Given the description of an element on the screen output the (x, y) to click on. 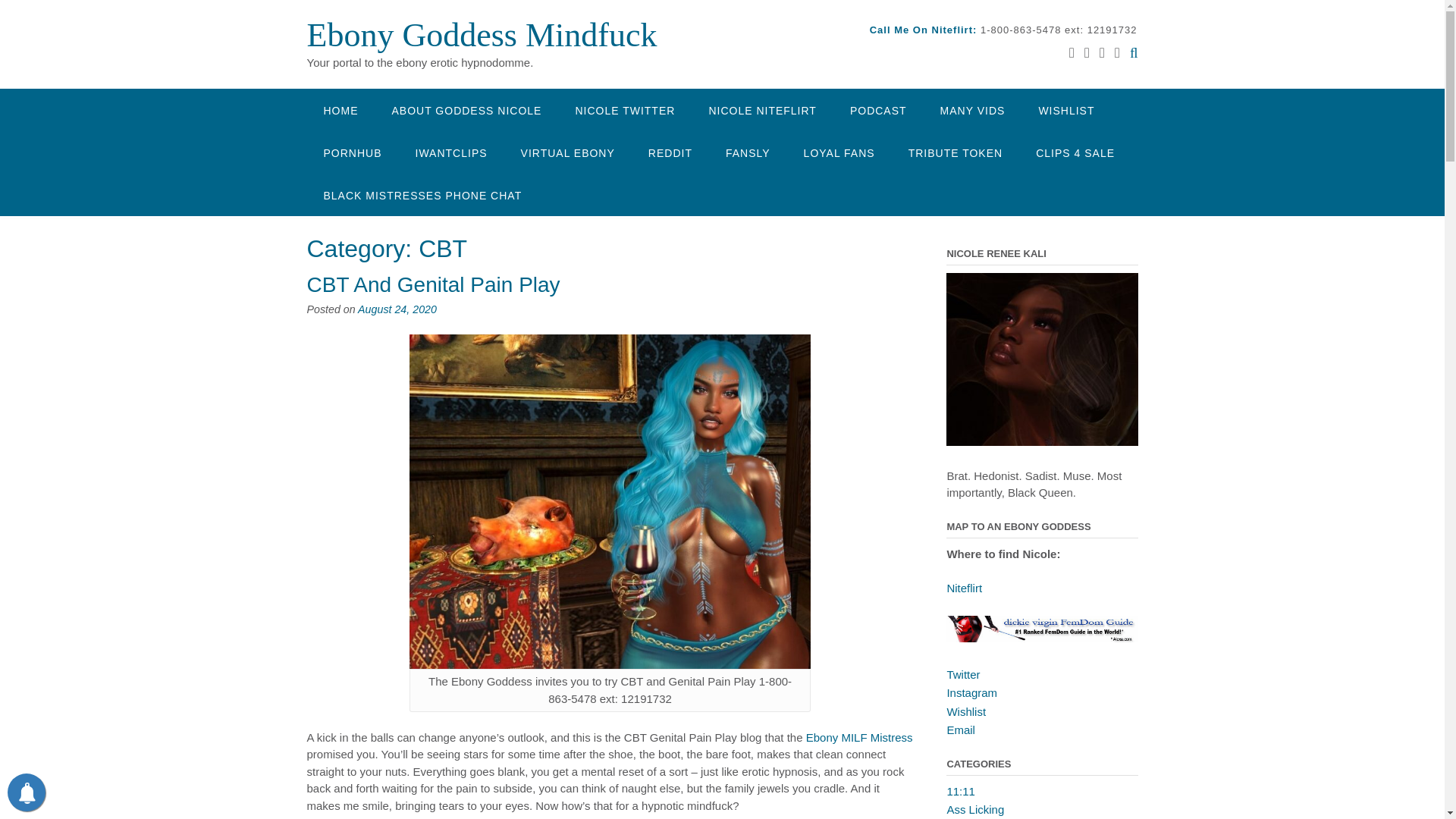
MANY VIDS (972, 109)
REDDIT (670, 152)
NICOLE TWITTER (624, 109)
IWANTCLIPS (450, 152)
VIRTUAL EBONY (567, 152)
WISHLIST (1066, 109)
PORNHUB (351, 152)
CLIPS 4 SALE (1075, 152)
Ebony Goddess Mindfuck (480, 35)
Ebony Goddess Mindfuck (480, 35)
